Given the description of an element on the screen output the (x, y) to click on. 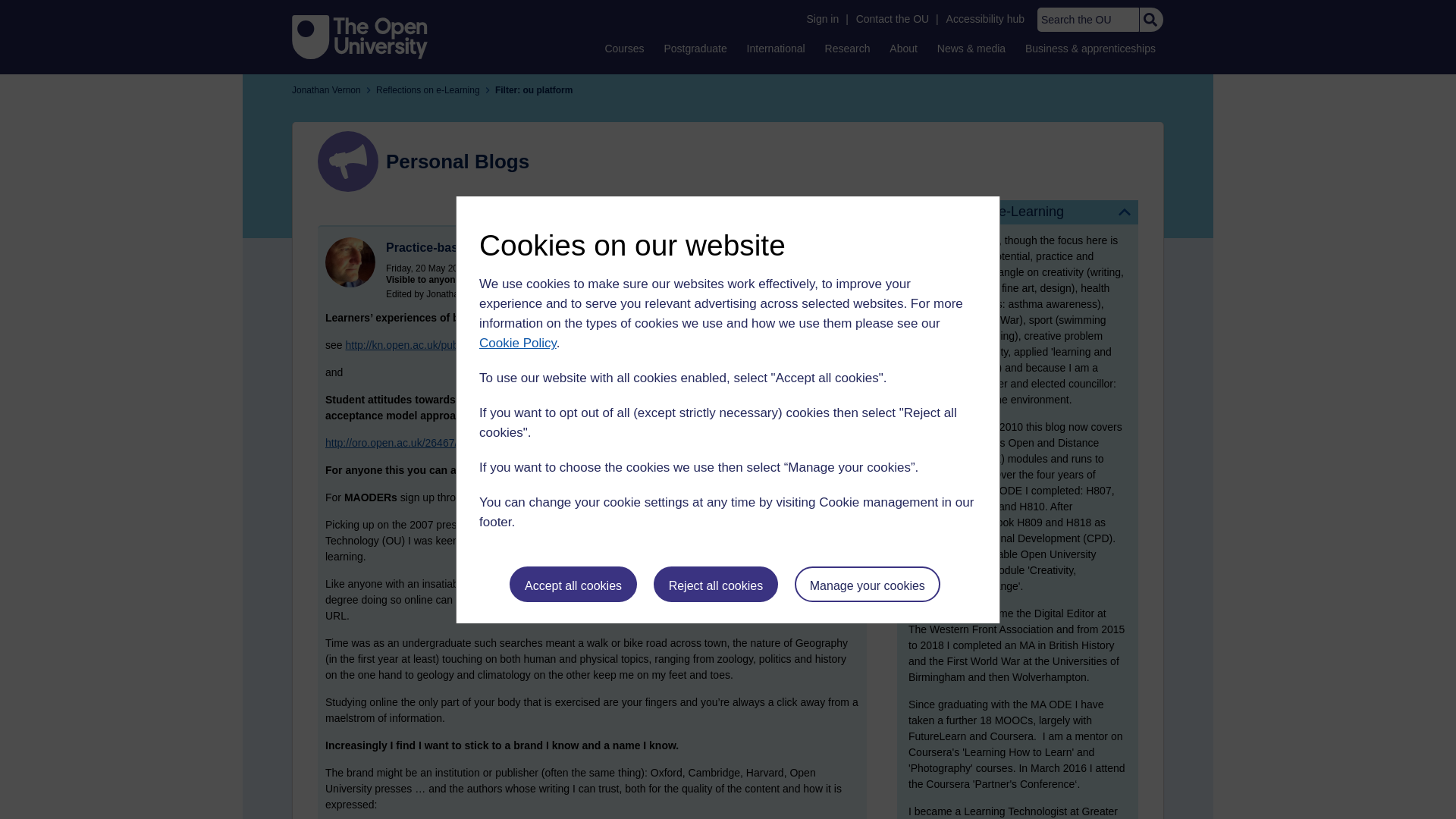
Contact the OU (892, 19)
Search (1149, 19)
Research (847, 48)
About (903, 48)
The Open University (360, 36)
Accessibility hub (985, 19)
Sign in (822, 19)
Postgraduate (695, 48)
Manage your cookies (867, 583)
